Given the description of an element on the screen output the (x, y) to click on. 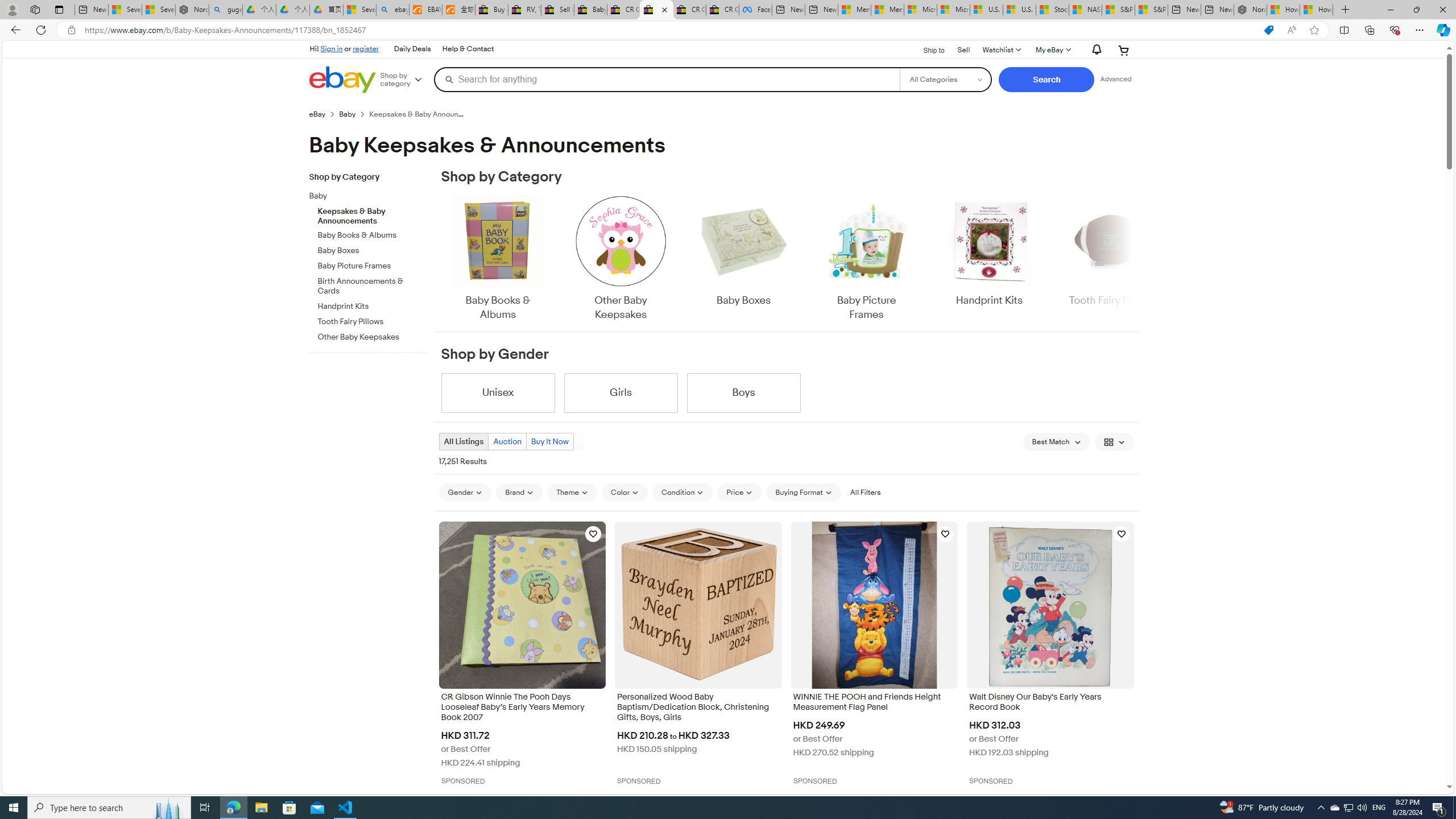
Boys (742, 392)
Baby Books & Albums (497, 258)
Refresh (40, 29)
Your shopping cart (1123, 49)
Facebook (755, 9)
Baby Boxes (742, 251)
Notifications (1093, 49)
Daily Deals (412, 49)
Ship to (926, 49)
Walt Disney Our Baby's Early Years Record Book (1050, 703)
Tooth Fairy Pillows (371, 321)
Baby (362, 196)
